Given the description of an element on the screen output the (x, y) to click on. 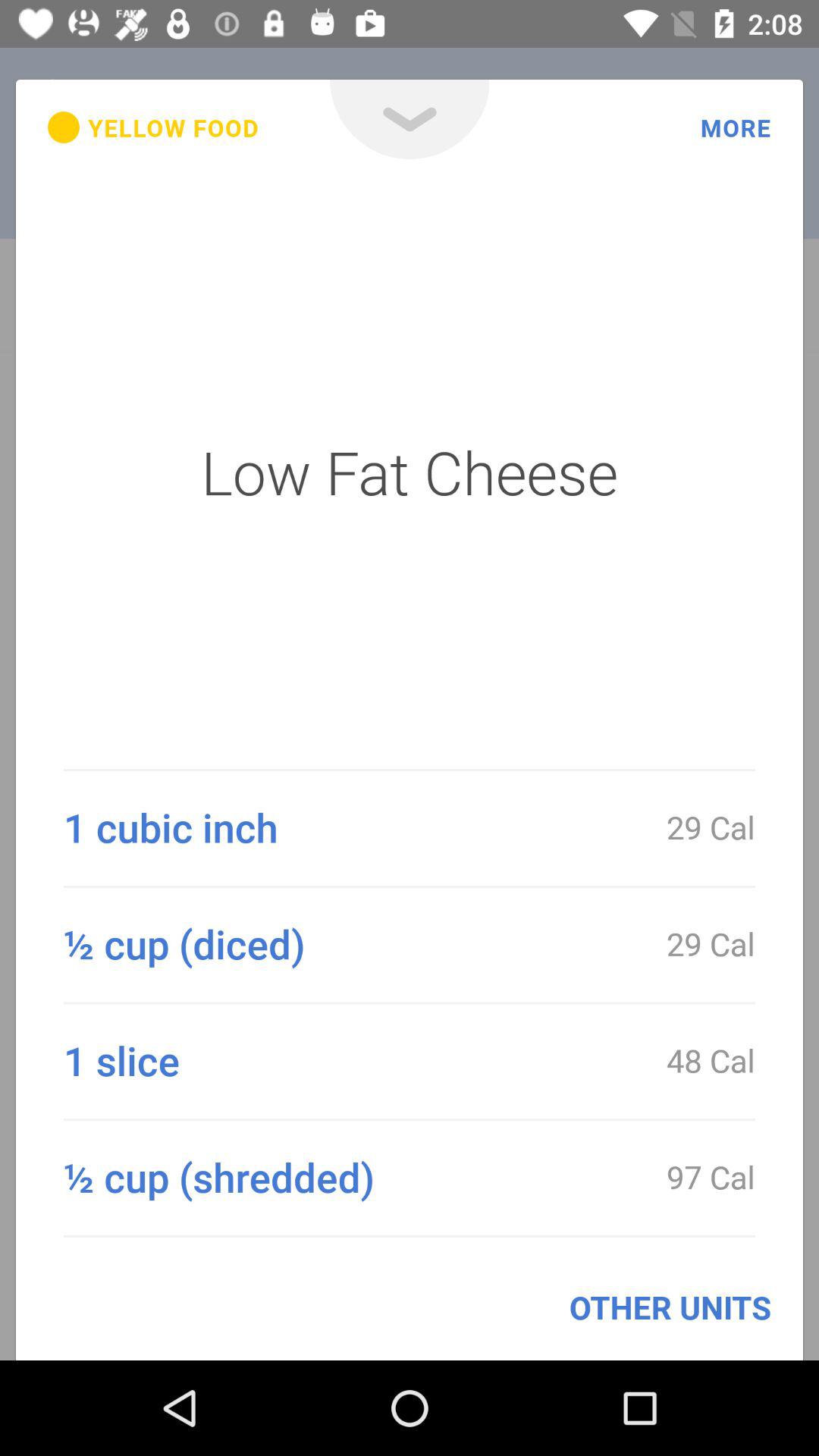
press icon next to yellow food (409, 119)
